Given the description of an element on the screen output the (x, y) to click on. 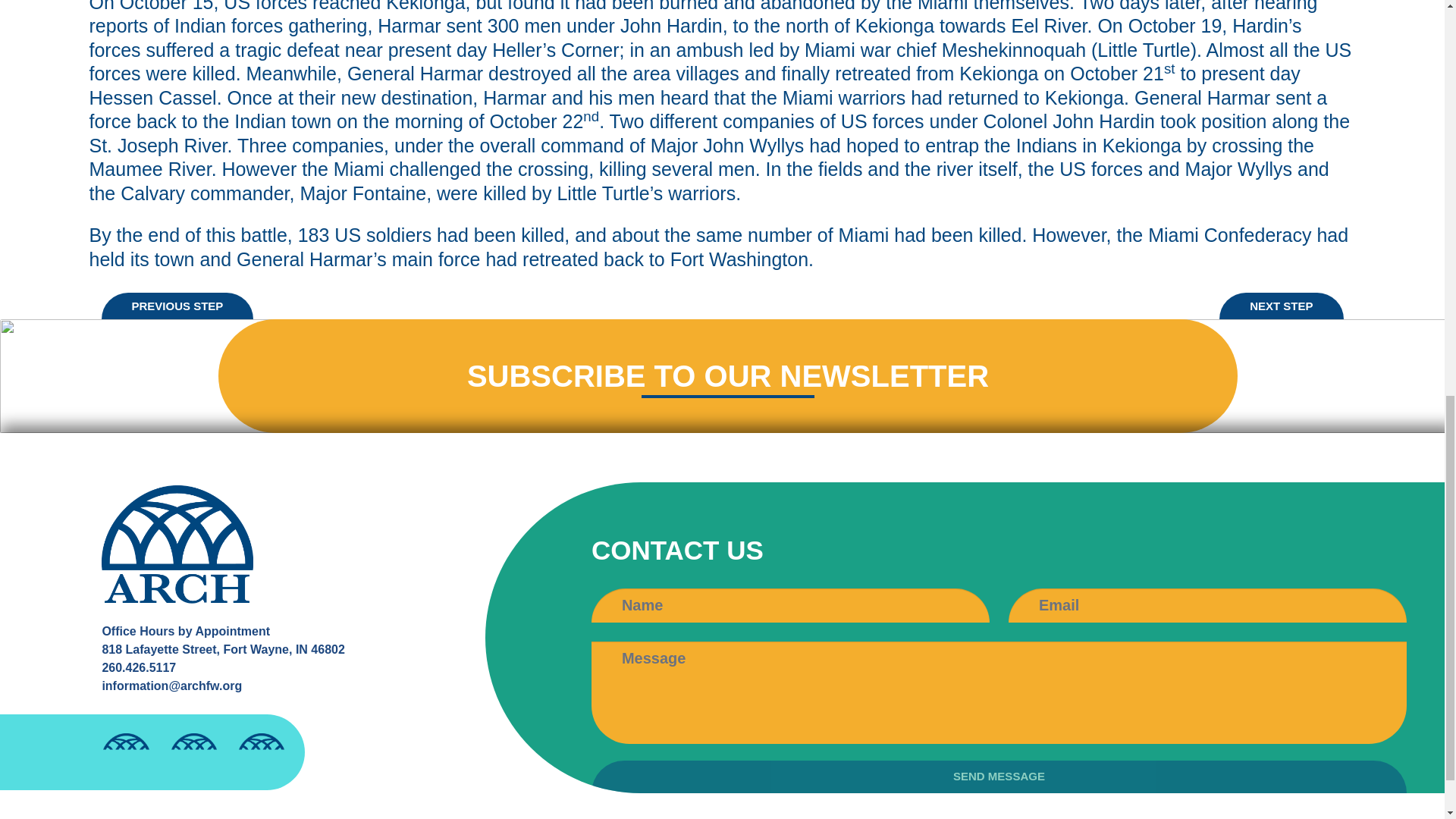
NEXT STEP (1281, 305)
PREVIOUS STEP (177, 305)
Send Message (998, 776)
